Given the description of an element on the screen output the (x, y) to click on. 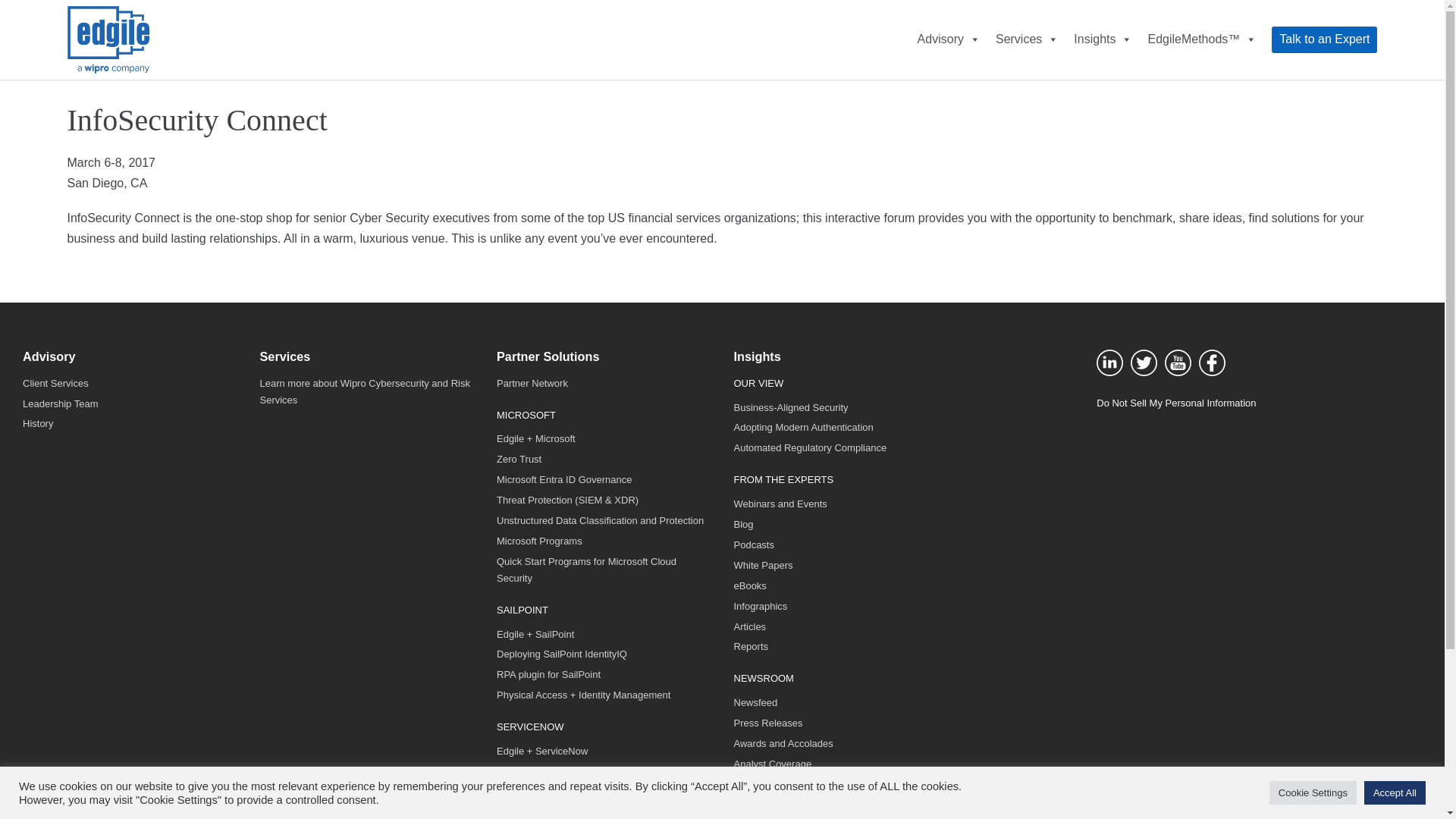
Skip to content (15, 7)
Edgile (107, 39)
Services (1026, 39)
Advisory (949, 39)
